Given the description of an element on the screen output the (x, y) to click on. 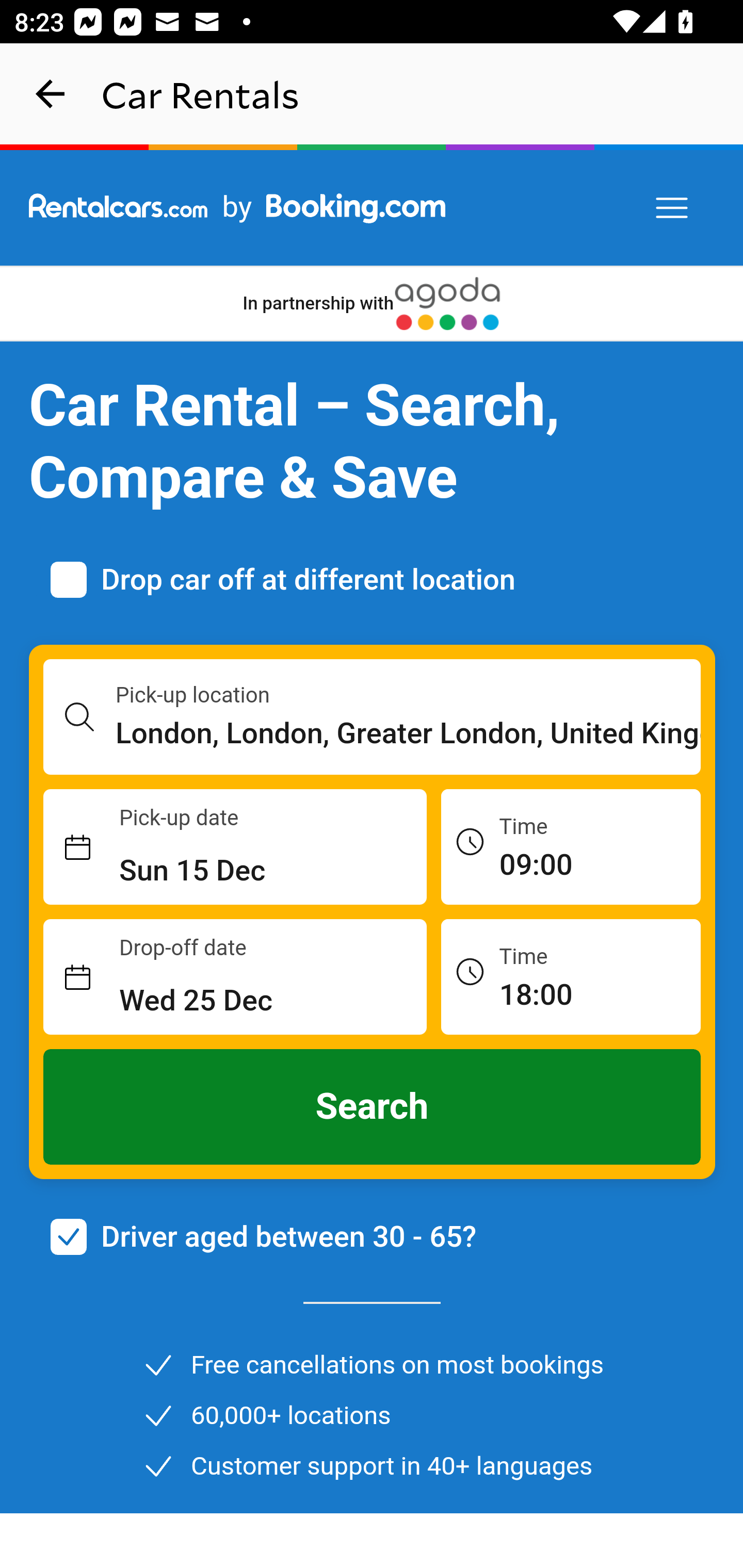
navigation_button (50, 93)
Menu (672, 208)
London, London, Greater London, United Kingdom (408, 733)
Pick-up date Sun 15 Dec (235, 847)
09:00 (571, 845)
Drop-off date Wed 25 Dec (235, 977)
18:00 (571, 975)
Search (372, 1106)
